Given the description of an element on the screen output the (x, y) to click on. 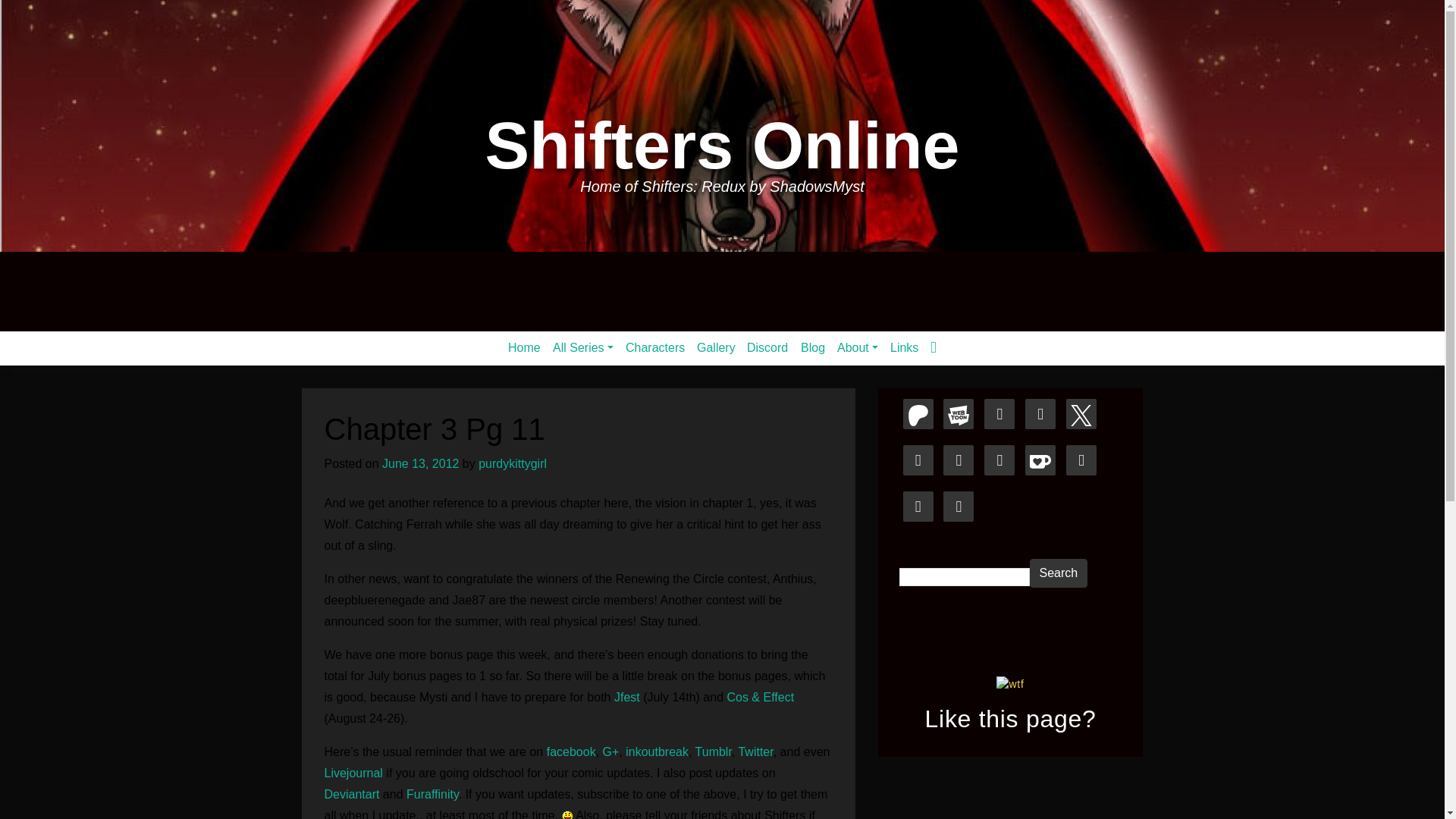
Links (903, 347)
Furaffinity (432, 793)
Home (524, 347)
purdykittygirl (513, 463)
Twitter (755, 751)
All Series (583, 347)
Deviantart (352, 793)
inkoutbreak (657, 751)
About (857, 347)
All Series (583, 347)
